Given the description of an element on the screen output the (x, y) to click on. 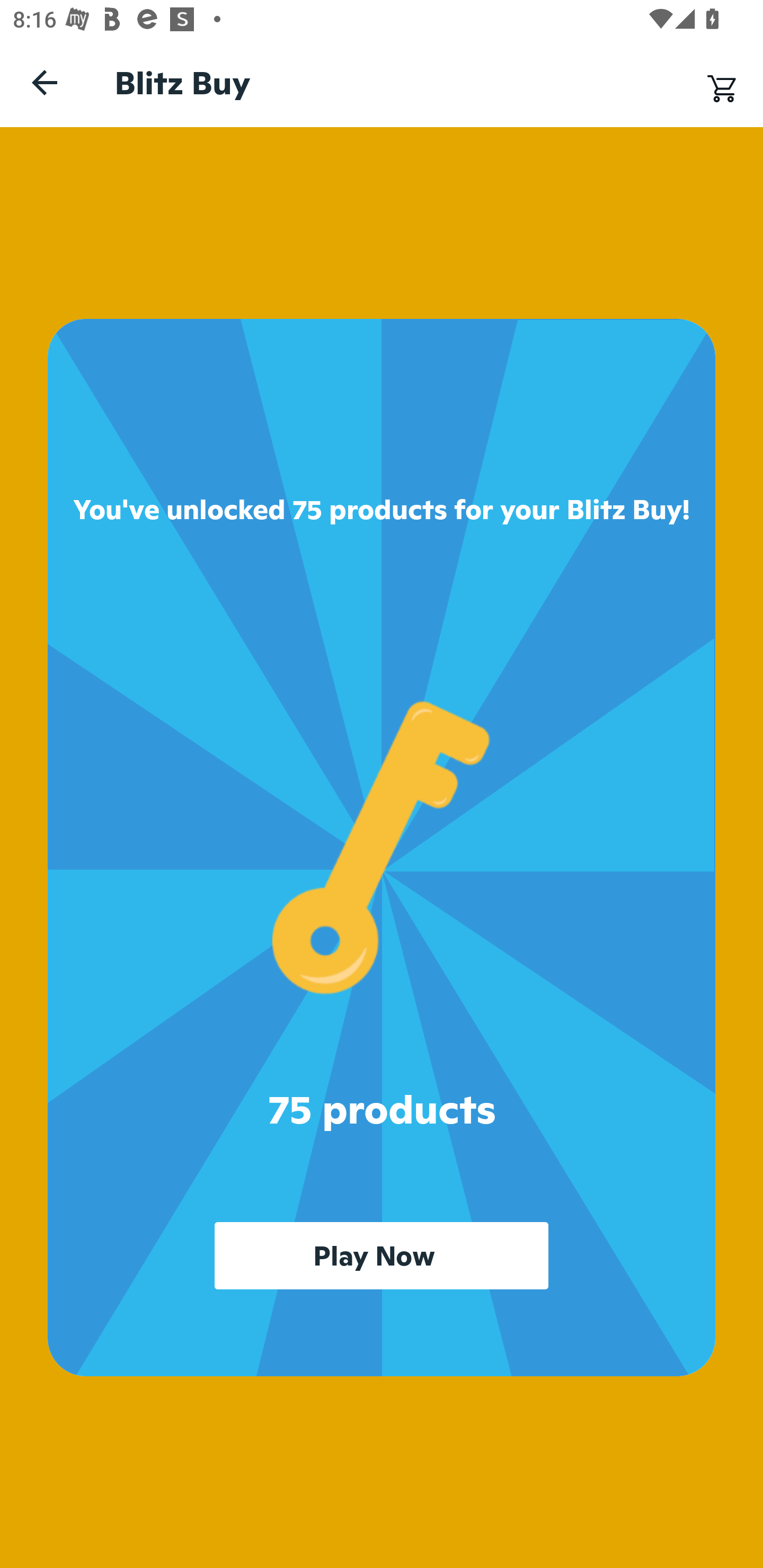
Navigate up (44, 82)
Play Now (381, 1254)
